Given the description of an element on the screen output the (x, y) to click on. 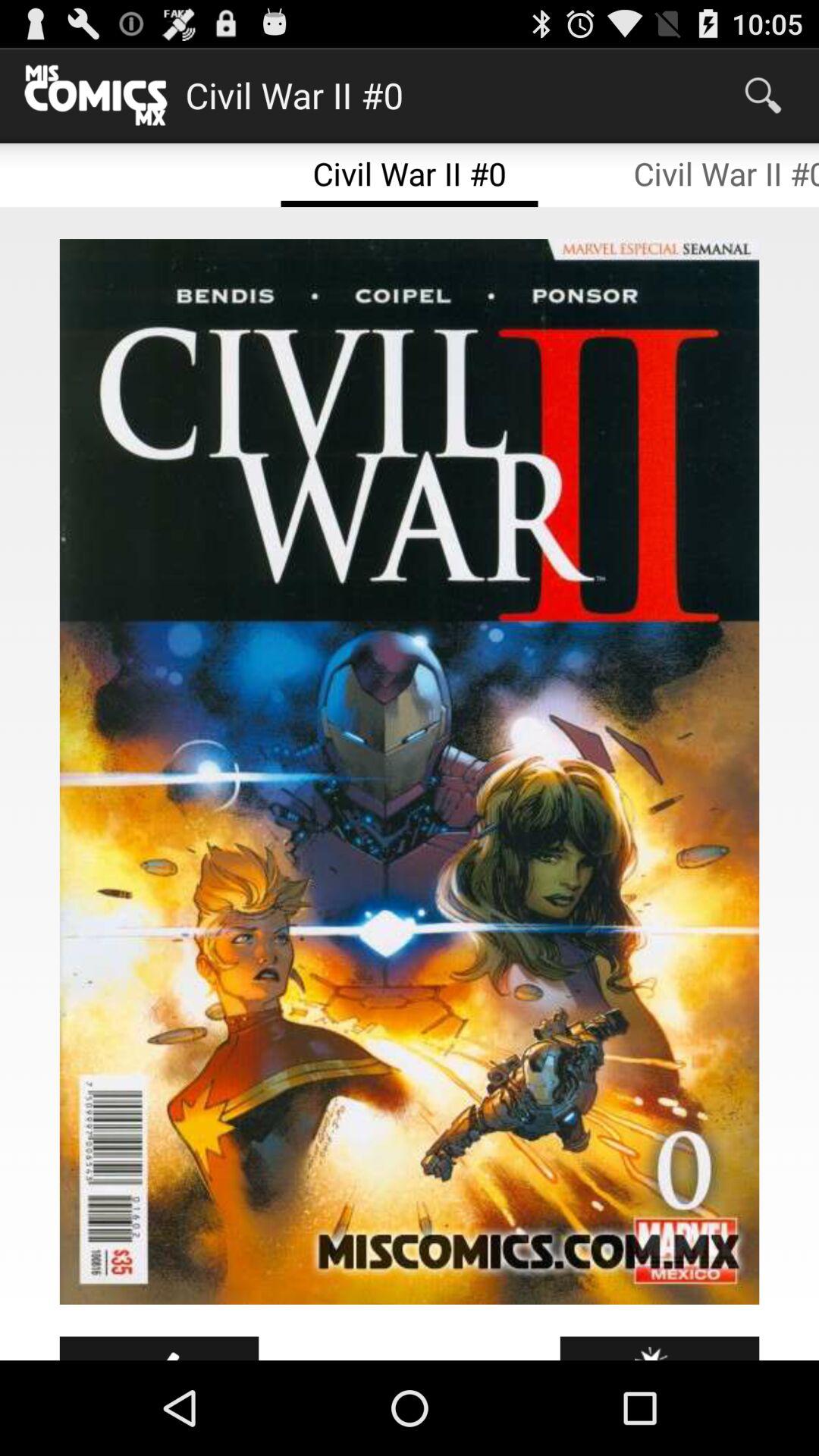
turn off app next to the civil war ii app (763, 95)
